Given the description of an element on the screen output the (x, y) to click on. 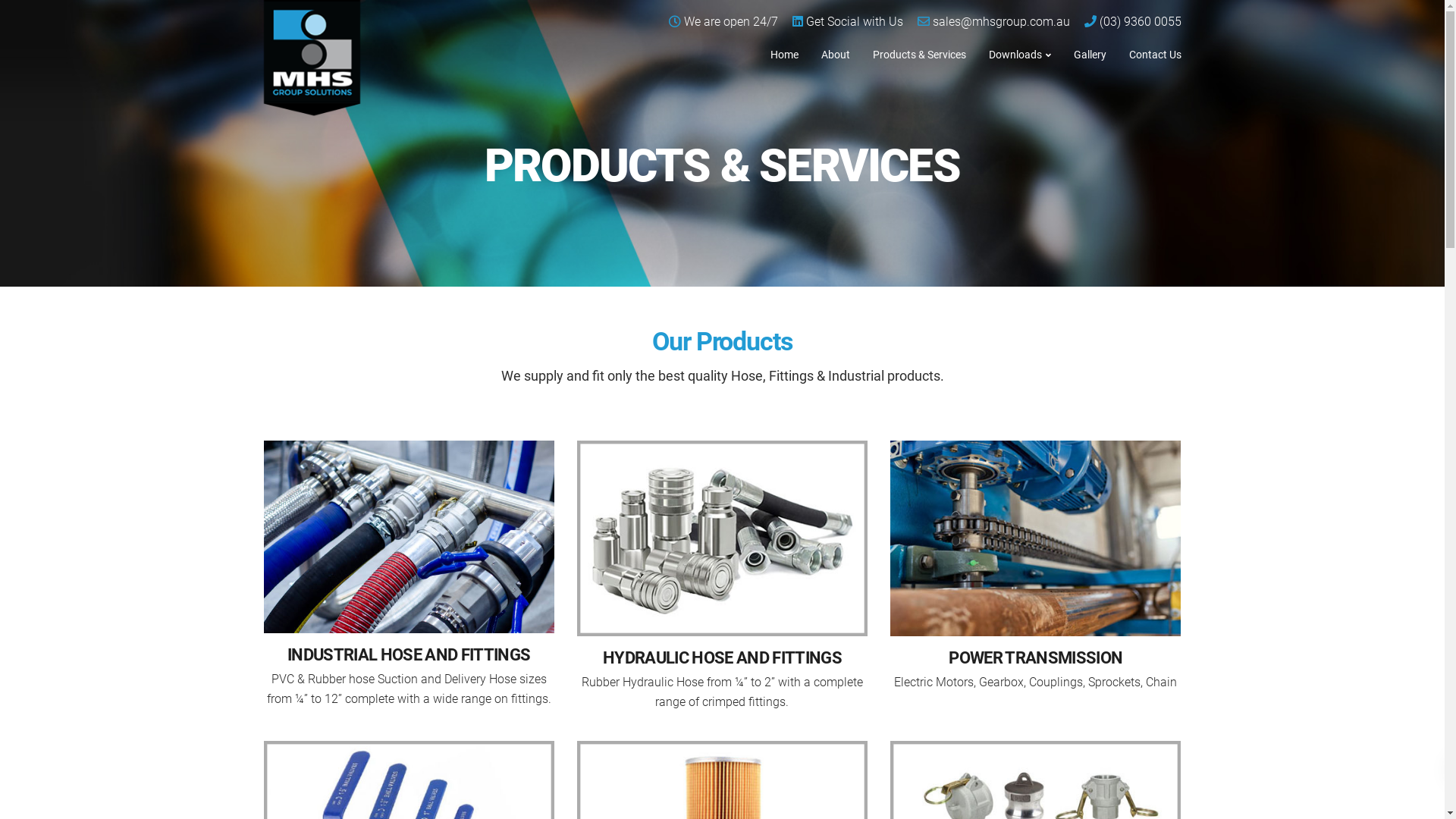
(03) 9360 0055 Element type: text (1140, 21)
Home Element type: text (783, 53)
Get Social with Us Element type: text (853, 21)
Contact Us Element type: text (1154, 53)
sales@mhsgroup.com.au Element type: text (1001, 21)
Products & Services Element type: text (919, 53)
About Element type: text (835, 53)
Gallery Element type: text (1089, 53)
Downloads Element type: text (1018, 53)
